Given the description of an element on the screen output the (x, y) to click on. 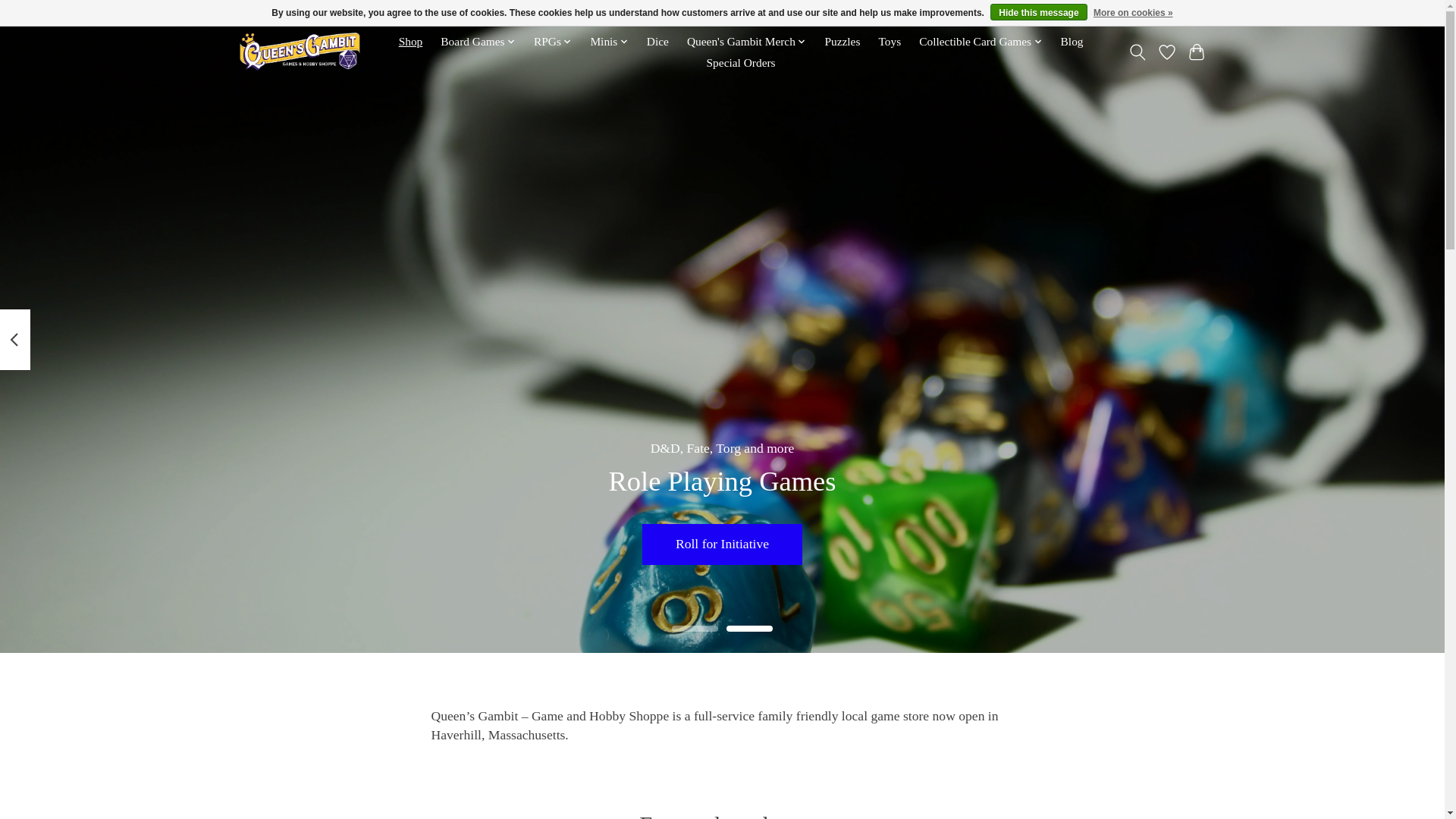
RPGs (553, 41)
My account (1173, 13)
Shop (410, 41)
Board Games (478, 41)
Dice (658, 41)
Minis (609, 41)
